Given the description of an element on the screen output the (x, y) to click on. 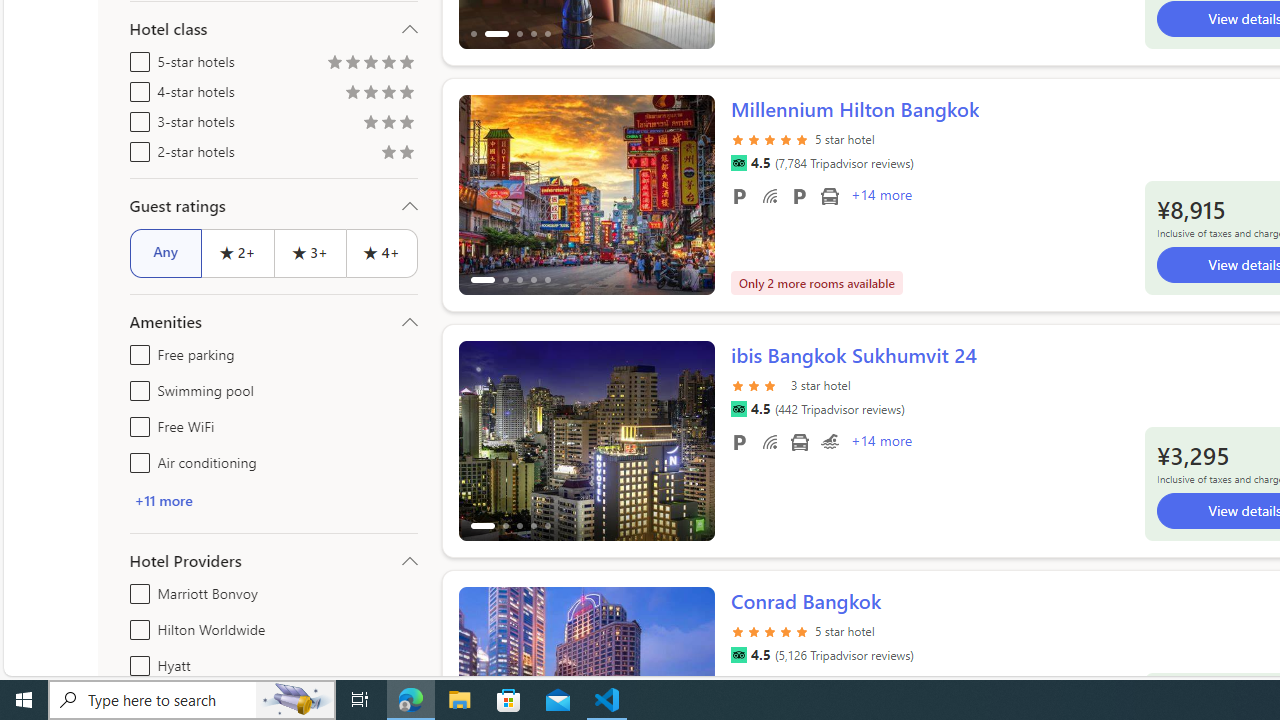
Free parking (738, 441)
Valet parking (798, 196)
Hilton Worldwide (136, 625)
3-star hotels (136, 118)
Free WiFi (769, 441)
Air conditioning (136, 458)
4-star hotels (136, 88)
Swimming pool (829, 441)
Any (165, 252)
star rating (770, 642)
Rating (406, 154)
Swimming pool (136, 386)
Tripadvisor (738, 655)
Free WiFi (136, 422)
5-star hotels (136, 57)
